Given the description of an element on the screen output the (x, y) to click on. 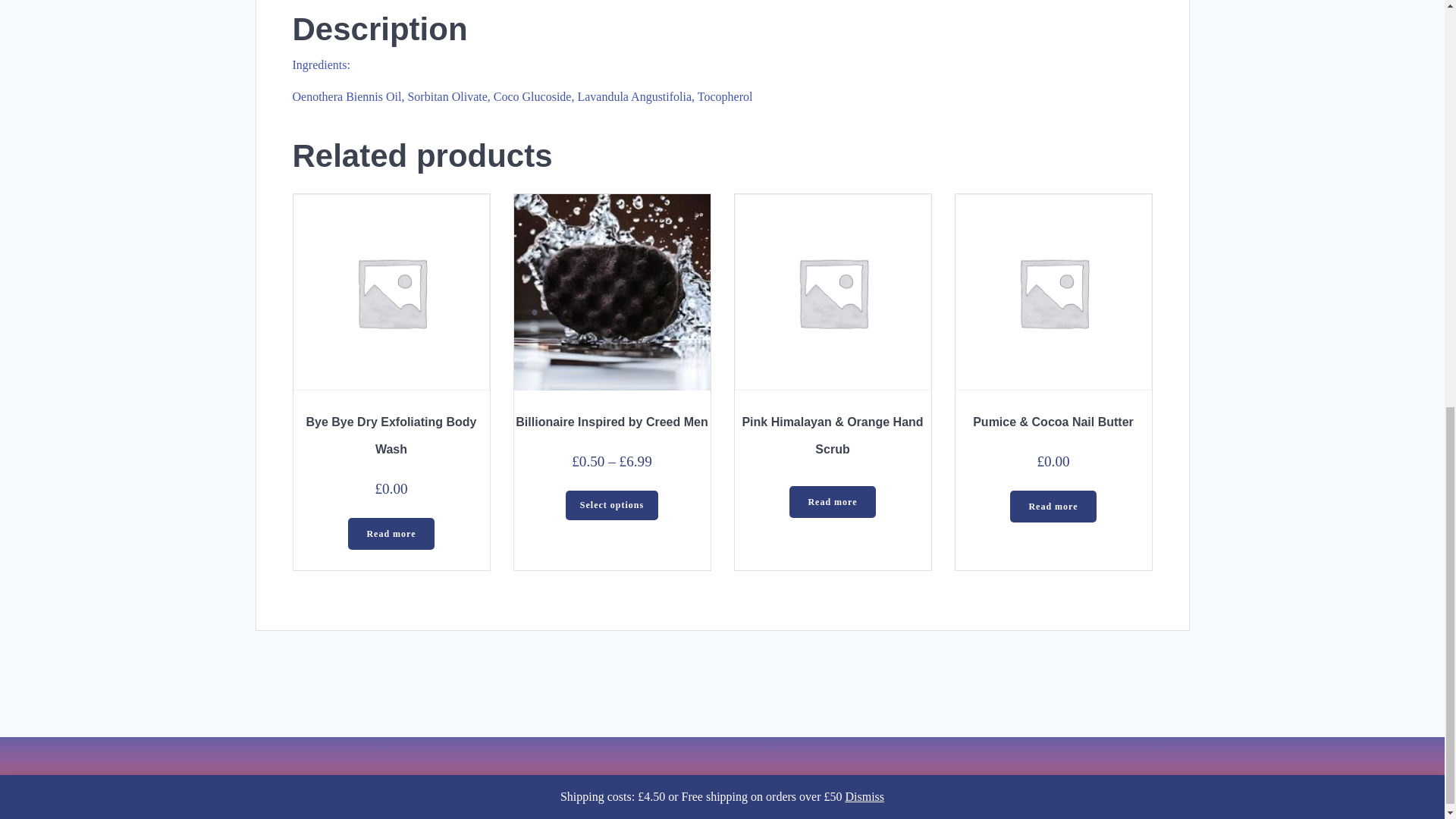
Select options (612, 504)
Read more (390, 533)
Read more (832, 501)
Colibri (862, 780)
Read more (1053, 506)
